Given the description of an element on the screen output the (x, y) to click on. 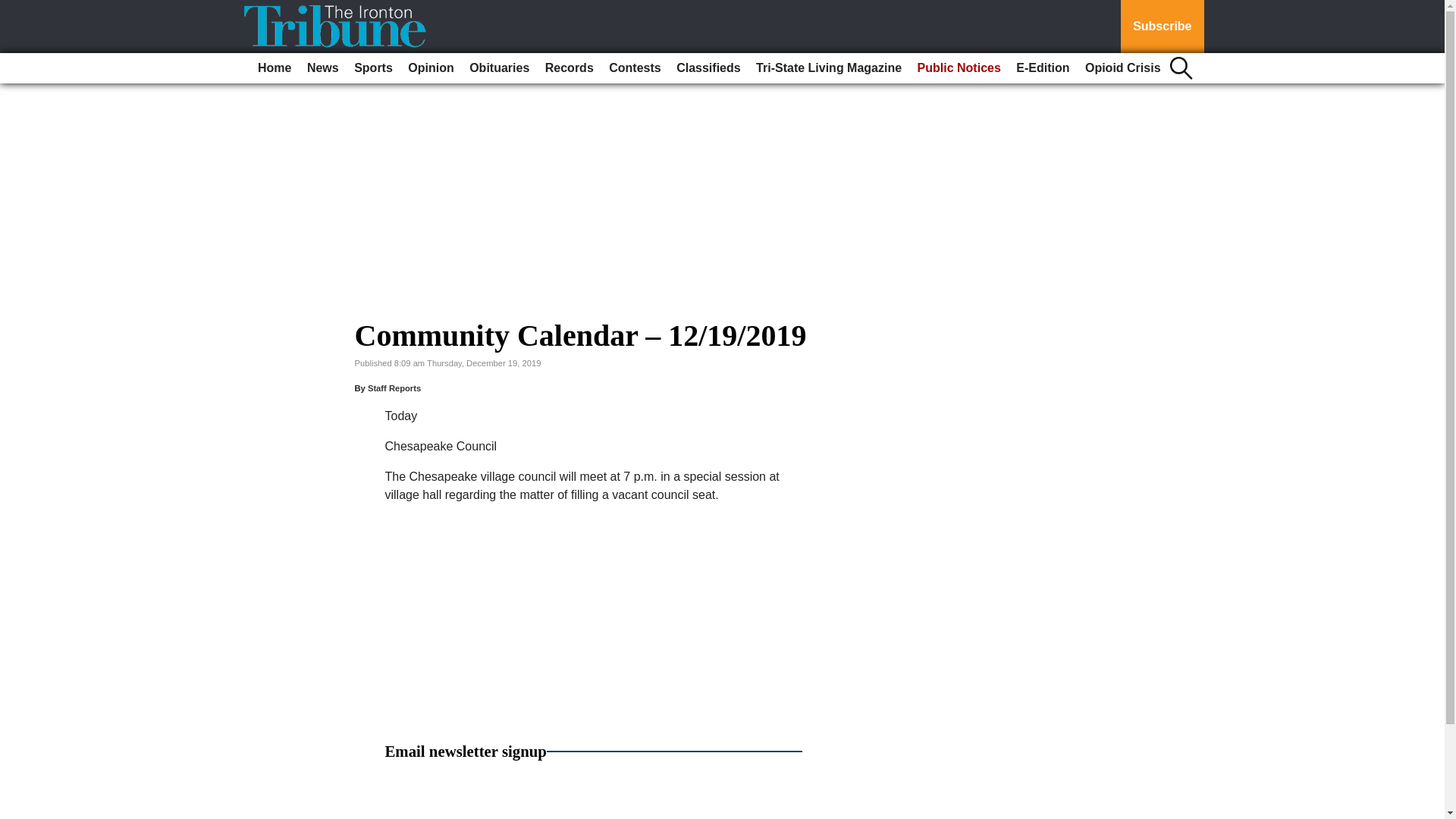
Tri-State Living Magazine (828, 68)
Records (568, 68)
Opioid Crisis (1122, 68)
News (323, 68)
Home (274, 68)
Subscribe (1162, 26)
Staff Reports (394, 388)
E-Edition (1042, 68)
Contests (634, 68)
Classifieds (707, 68)
